Given the description of an element on the screen output the (x, y) to click on. 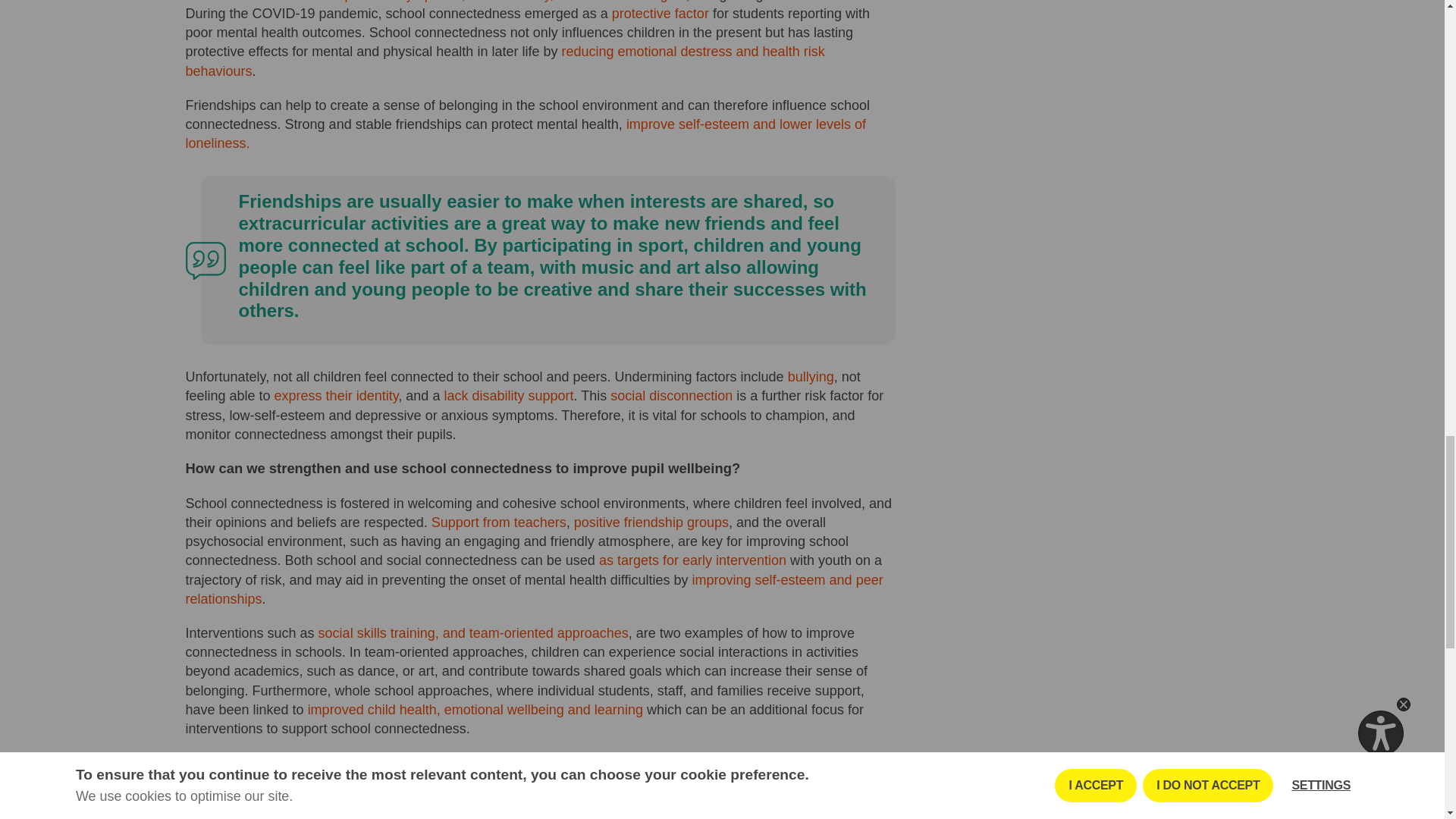
The case for early intervention (523, 790)
